Given the description of an element on the screen output the (x, y) to click on. 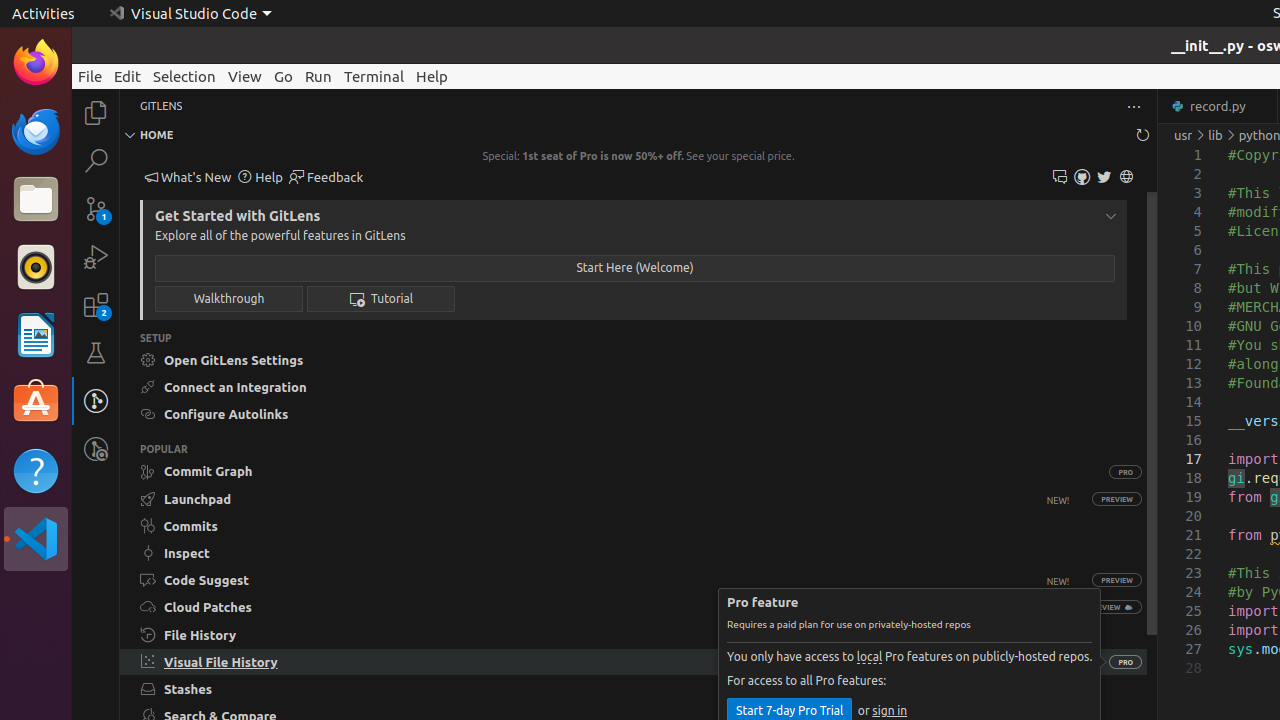
GitLens Inspect Element type: page-tab (96, 449)
Special: 1st seat of Pro is now 50%+ off. See your special price. Element type: link (638, 155)
Start Here (Welcome) Element type: link (635, 268)
File Element type: push-button (90, 76)
Run and Debug (Ctrl+Shift+D) Element type: page-tab (96, 257)
